Given the description of an element on the screen output the (x, y) to click on. 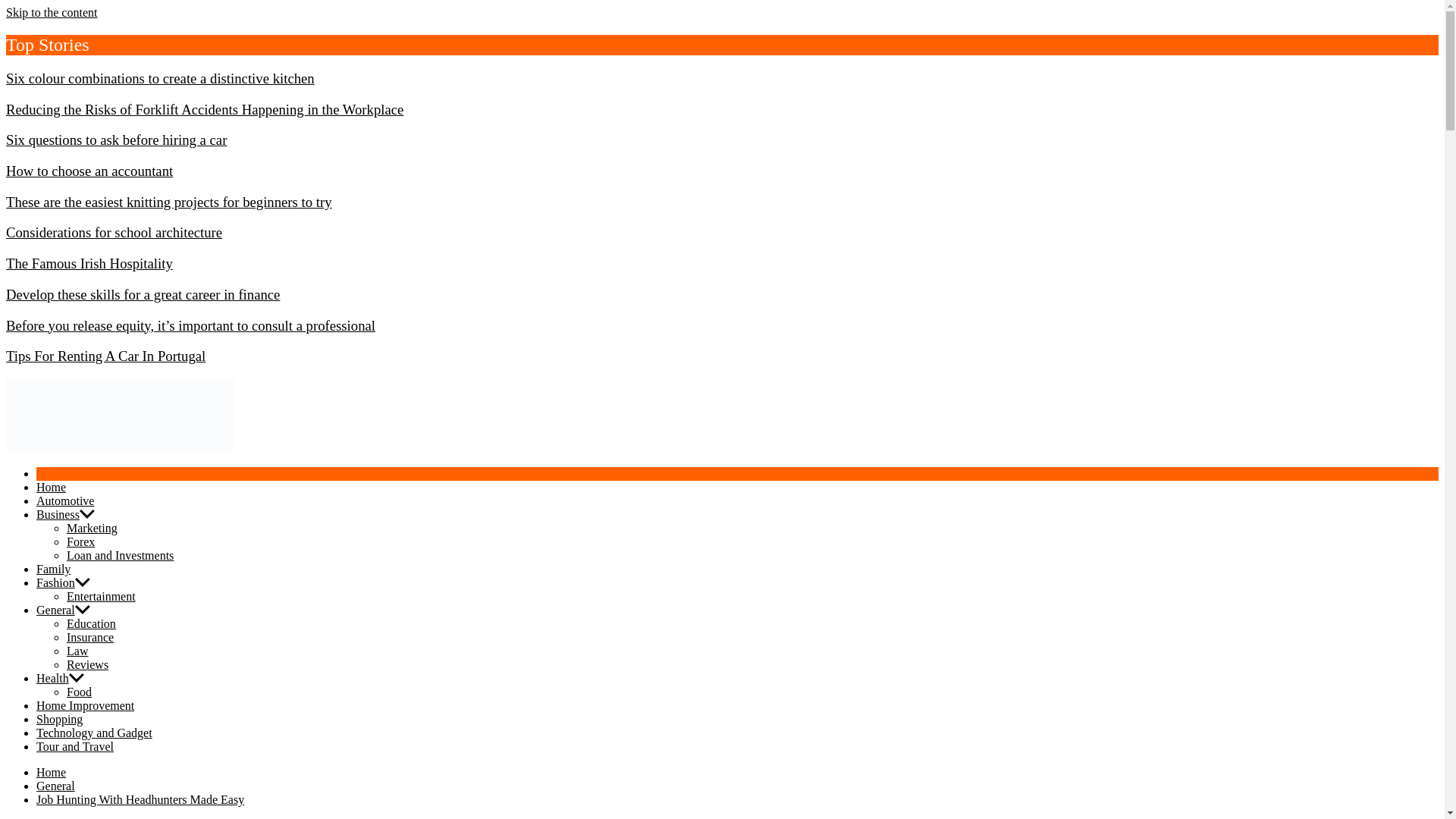
Forex (80, 541)
Six colour combinations to create a distinctive kitchen (159, 78)
Six questions to ask before hiring a car (116, 139)
Reviews (86, 664)
Marketing (91, 527)
Education (91, 623)
Considerations for school architecture (113, 232)
Law (76, 650)
Automotive (65, 500)
Loan and Investments (119, 554)
Home (50, 486)
Develop these skills for a great career in finance (142, 294)
General (55, 609)
Skip to the content (51, 11)
